Given the description of an element on the screen output the (x, y) to click on. 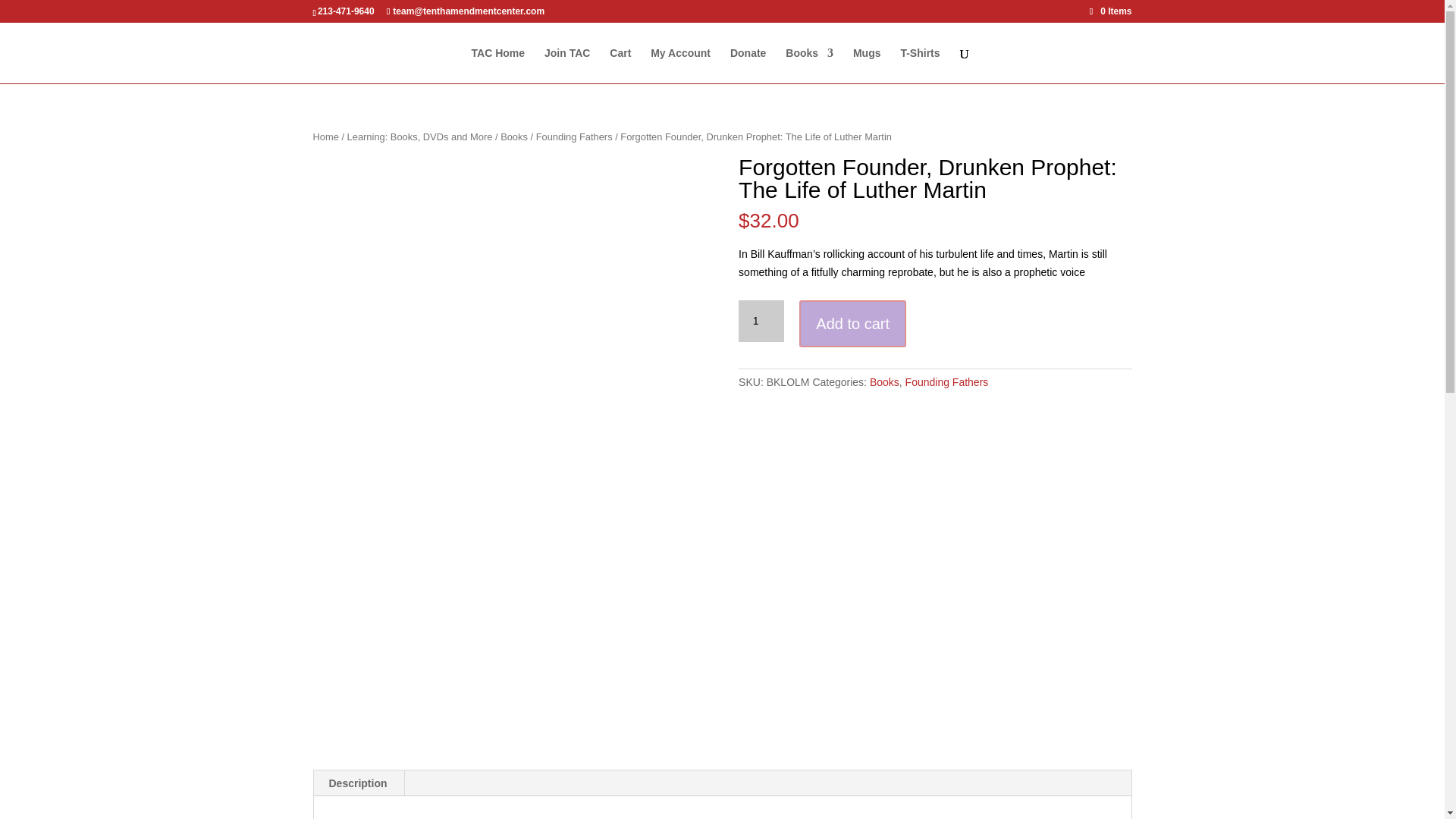
Donate (747, 65)
Home (325, 136)
My Account (680, 65)
Learning: Books, DVDs and More (420, 136)
1 (761, 321)
Founding Fathers (573, 136)
Books (884, 381)
Description (358, 783)
Add to cart (852, 324)
Founding Fathers (946, 381)
TAC Home (498, 65)
Join TAC (566, 65)
0 Items (1110, 10)
T-Shirts (919, 65)
Books (513, 136)
